Given the description of an element on the screen output the (x, y) to click on. 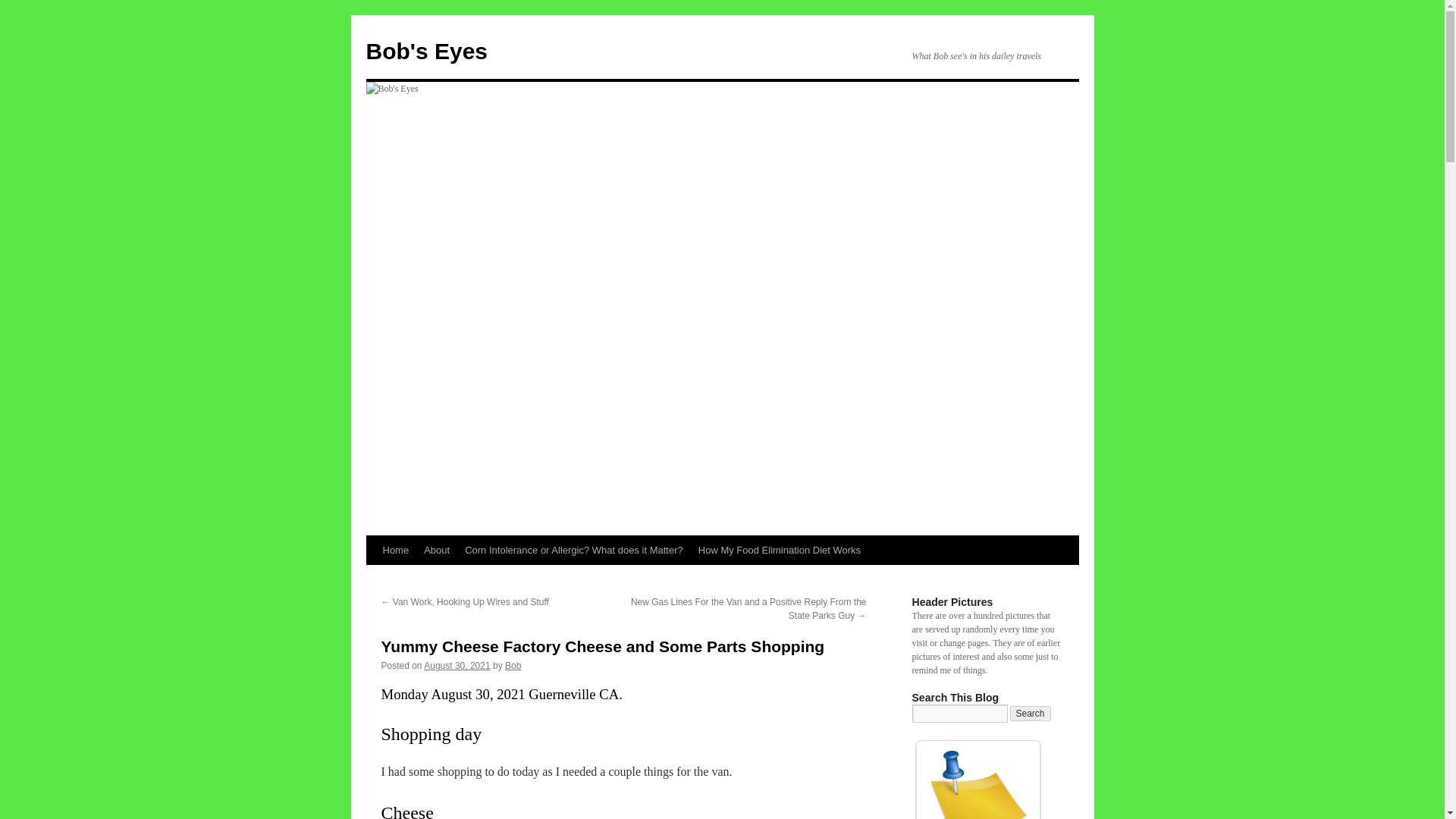
View all posts by Bob (513, 665)
Search (1030, 713)
August 30, 2021 (456, 665)
About (436, 550)
Seems I Shoot the Bull with Most Everyone (976, 782)
Corn Intolerance or Allergic? What does it Matter? (573, 550)
Bob's Eyes (426, 50)
How My Food Elimination Diet Works (778, 550)
9:14 pm (456, 665)
Search (1030, 713)
